Given the description of an element on the screen output the (x, y) to click on. 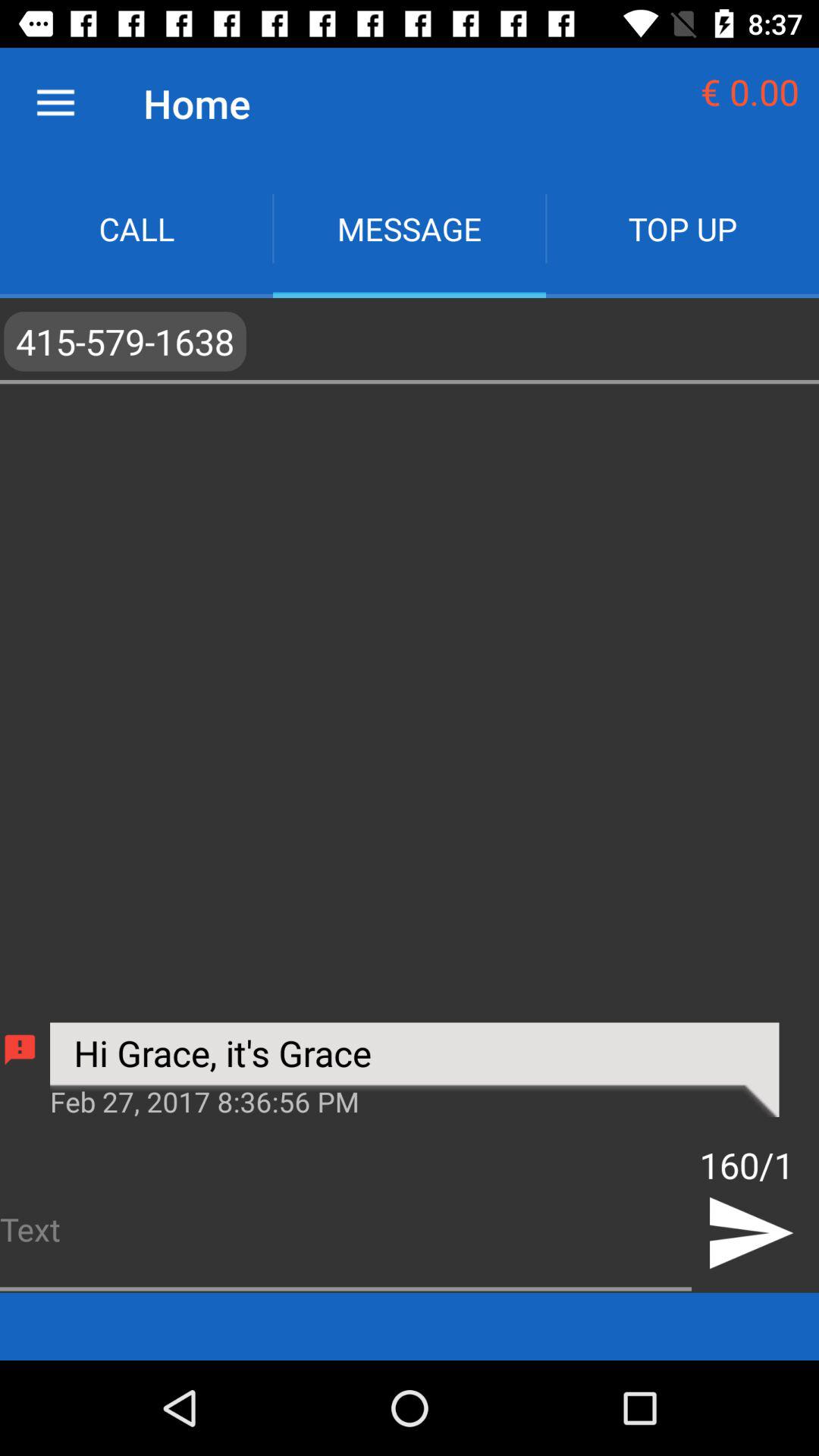
turn off the icon below the ,415-579-1638, (414, 1099)
